Given the description of an element on the screen output the (x, y) to click on. 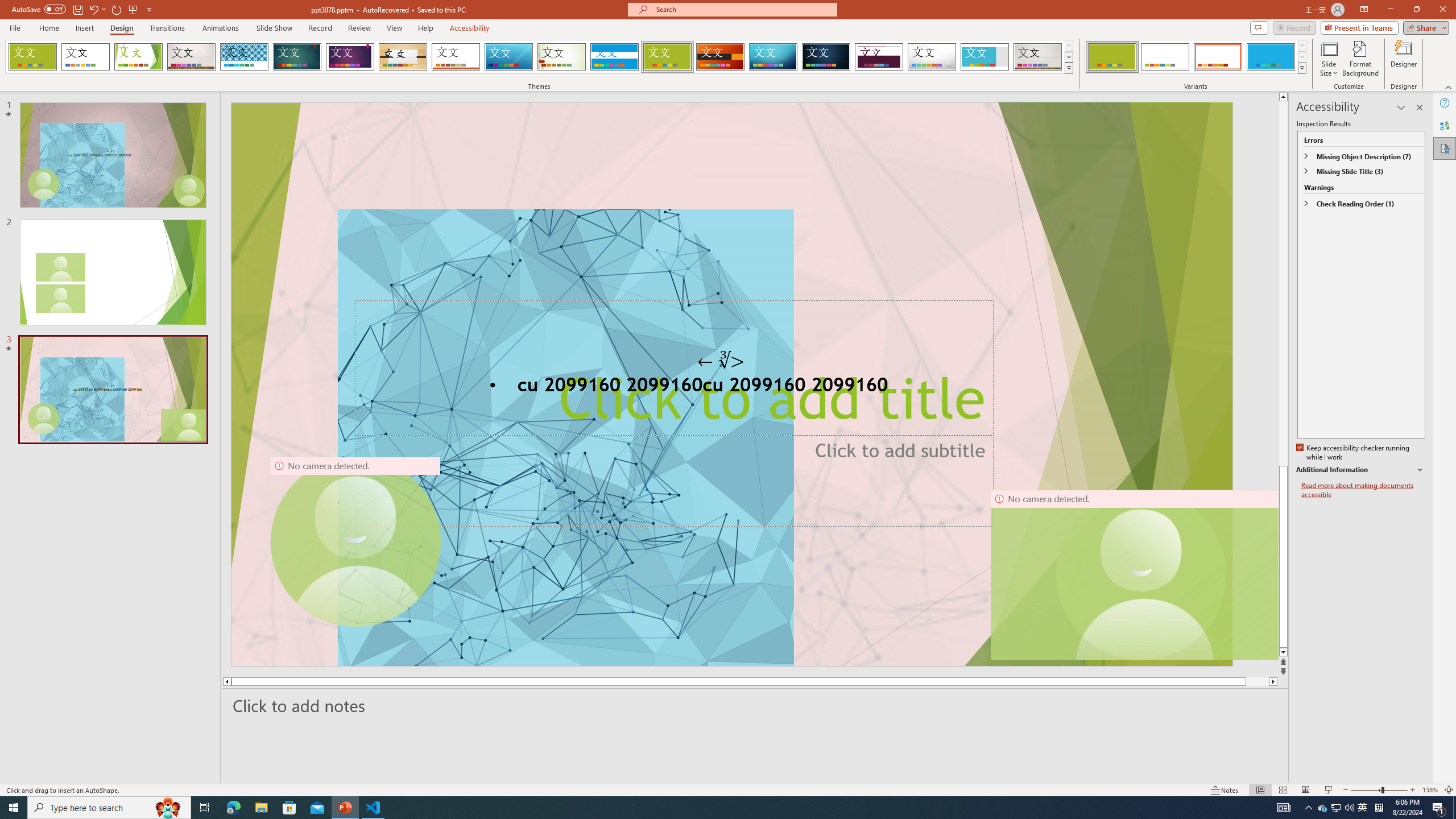
Retrospect (455, 56)
Basis Variant 3 (1217, 56)
Basis (667, 56)
Zoom 138% (1430, 790)
